Given the description of an element on the screen output the (x, y) to click on. 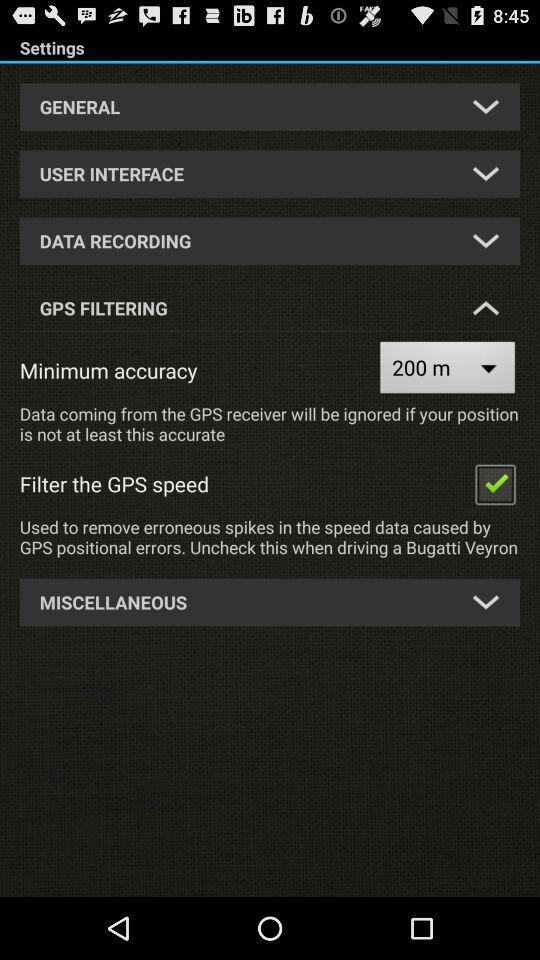
uncheck option (495, 483)
